Given the description of an element on the screen output the (x, y) to click on. 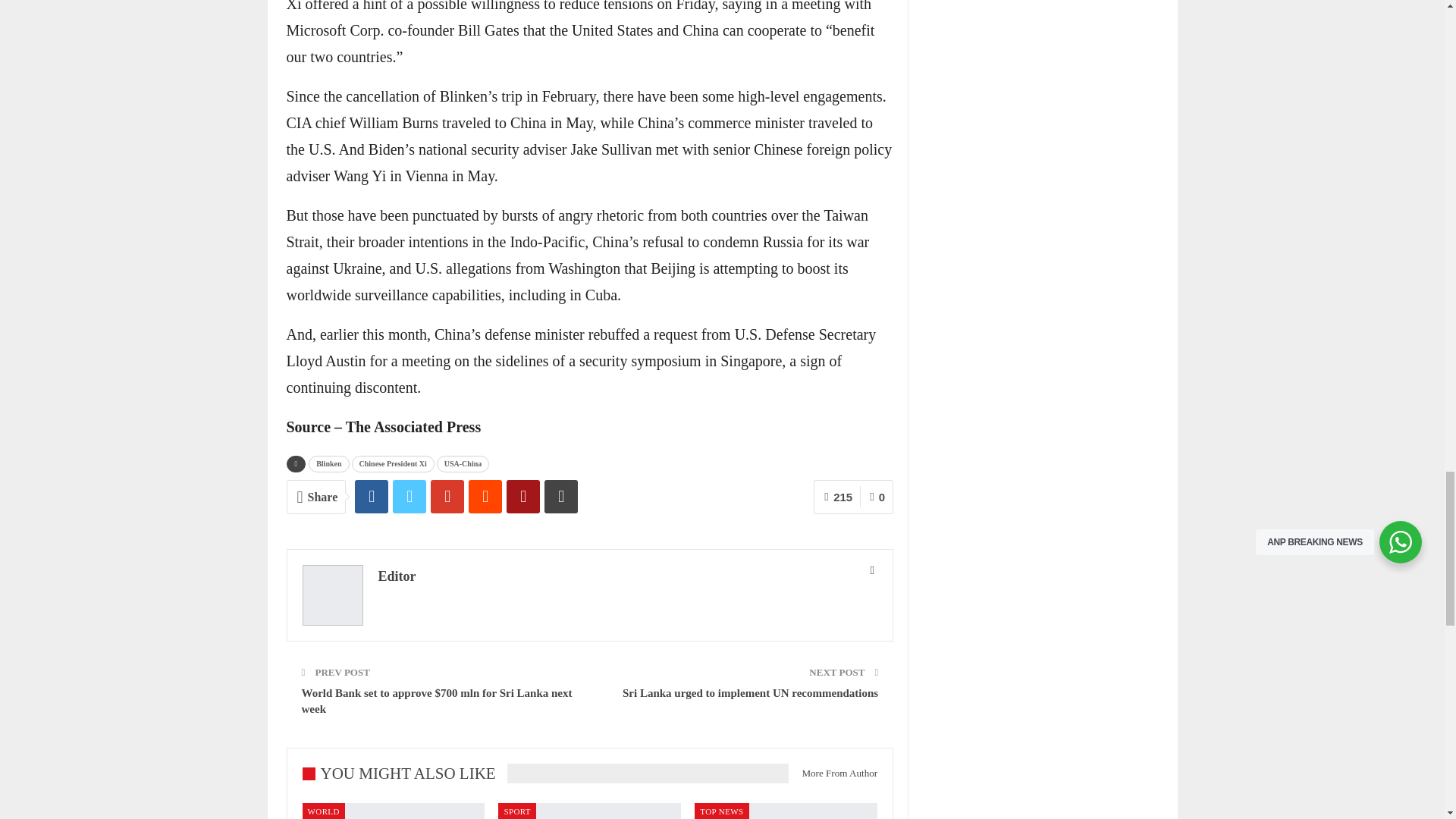
Sri Lanka Women clinch first-ever Asia Cup title (589, 811)
Hamas chief Ismail Haniyeh killed in Iran, Hamas says (392, 811)
Tanker with 1,500 tonnes of oil sinks off Philippines (785, 811)
